Given the description of an element on the screen output the (x, y) to click on. 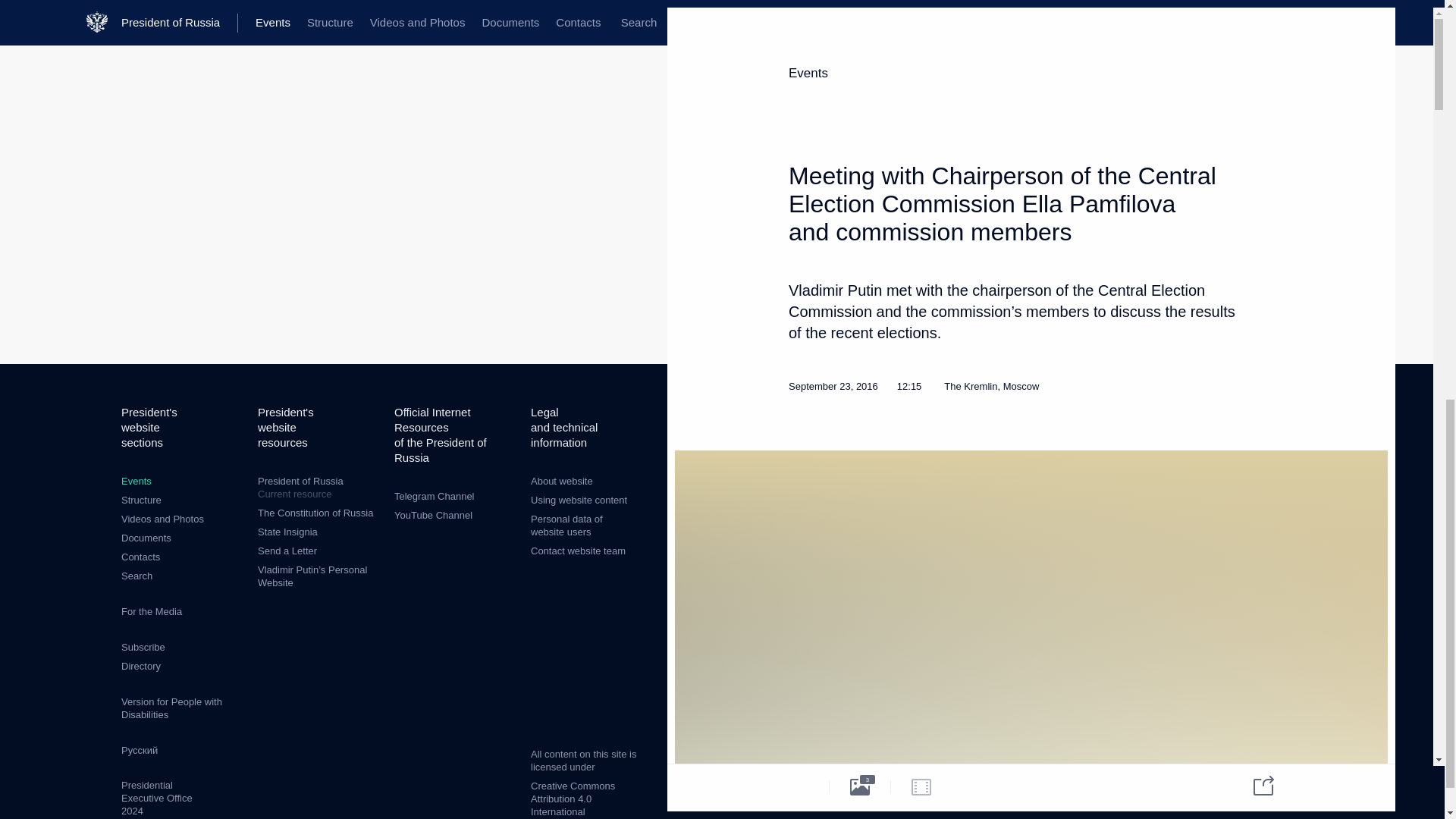
Search (136, 575)
Using website content (579, 500)
Videos and Photos (161, 518)
For the Media (151, 611)
The Constitution of Russia (314, 512)
Directory (140, 665)
State Insignia (287, 531)
Events (135, 480)
Subscribe (142, 646)
Documents (145, 537)
Send a Letter (287, 550)
Creative Commons Attribution 4.0 International (572, 798)
Structure (317, 487)
Contacts (140, 500)
